Given the description of an element on the screen output the (x, y) to click on. 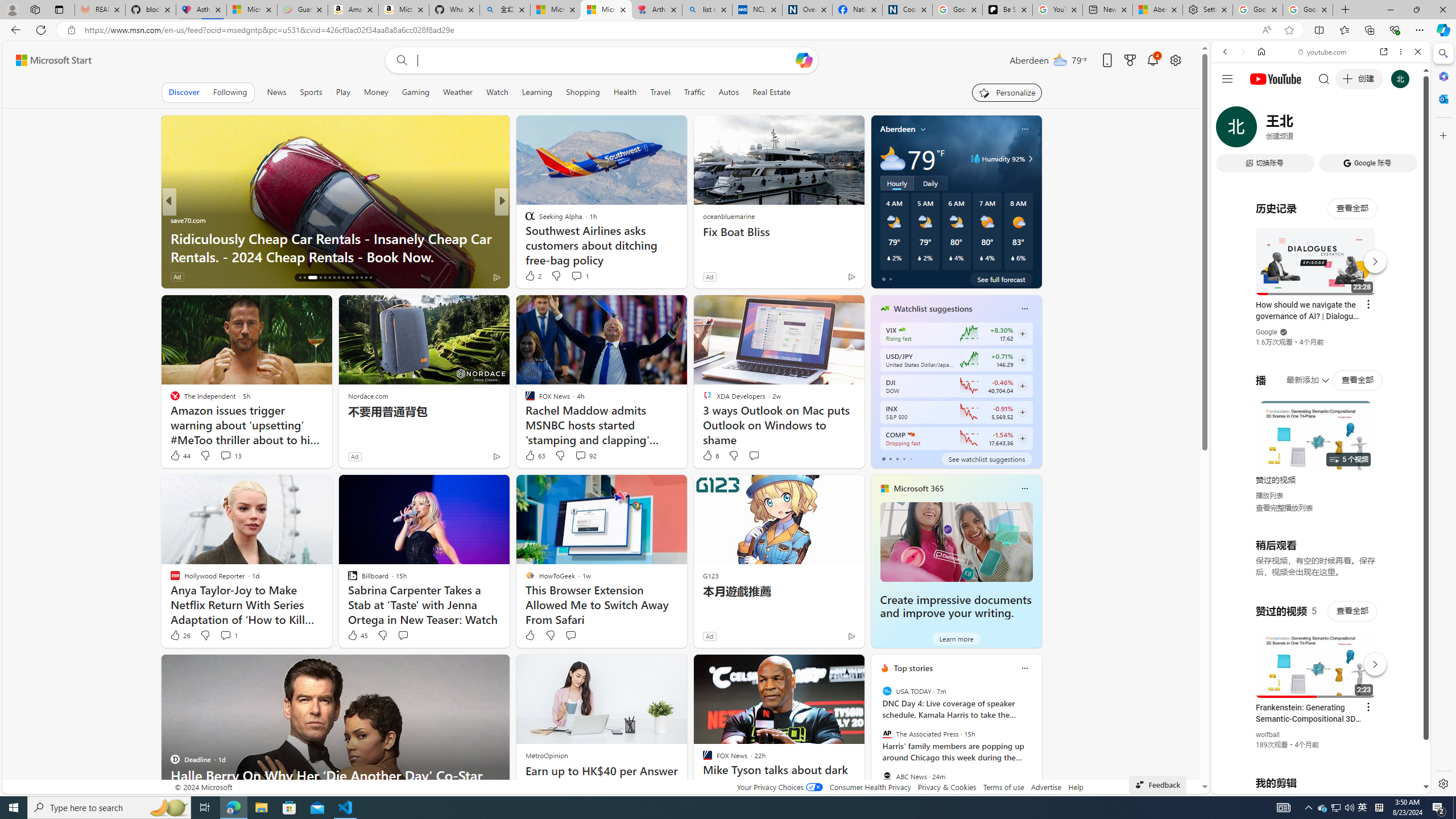
View comments 92 Comment (580, 455)
Class: weather-current-precipitation-glyph (1012, 257)
NASDAQ (910, 434)
View comments 3 Comment (576, 276)
Play (342, 92)
Actions for this site (1371, 661)
Create impressive documents and improve your writing. (955, 606)
Autos (729, 92)
